Given the description of an element on the screen output the (x, y) to click on. 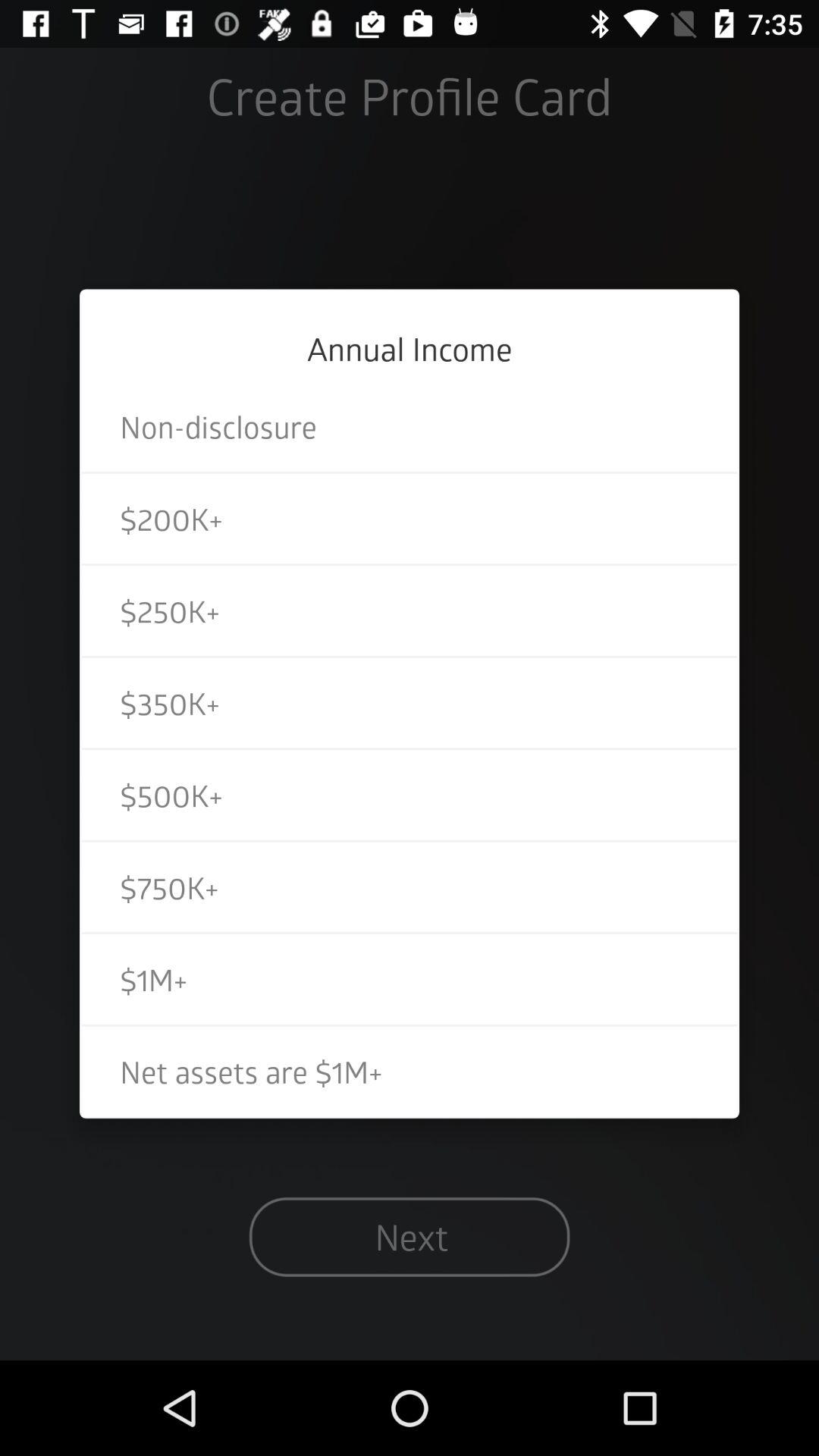
launch the net assets are item (409, 1071)
